Given the description of an element on the screen output the (x, y) to click on. 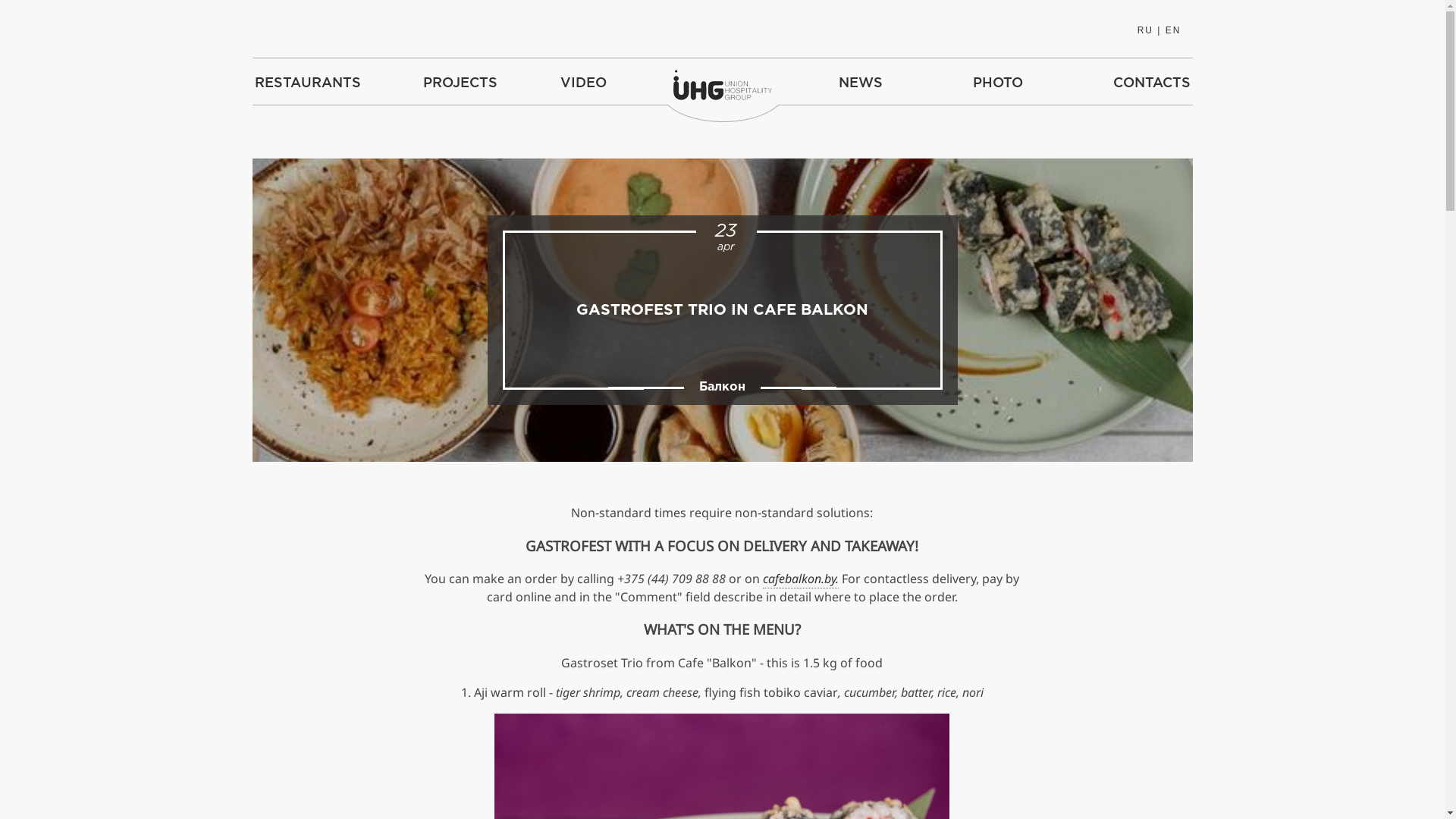
PHOTO Element type: text (997, 81)
RESTAURANTS Element type: text (306, 81)
NEWS Element type: text (859, 81)
CONTACTS Element type: text (1151, 81)
cafebalkon.by. Element type: text (800, 579)
PROJECTS Element type: text (459, 81)
RU Element type: text (1145, 30)
VIDEO Element type: text (583, 81)
